Given the description of an element on the screen output the (x, y) to click on. 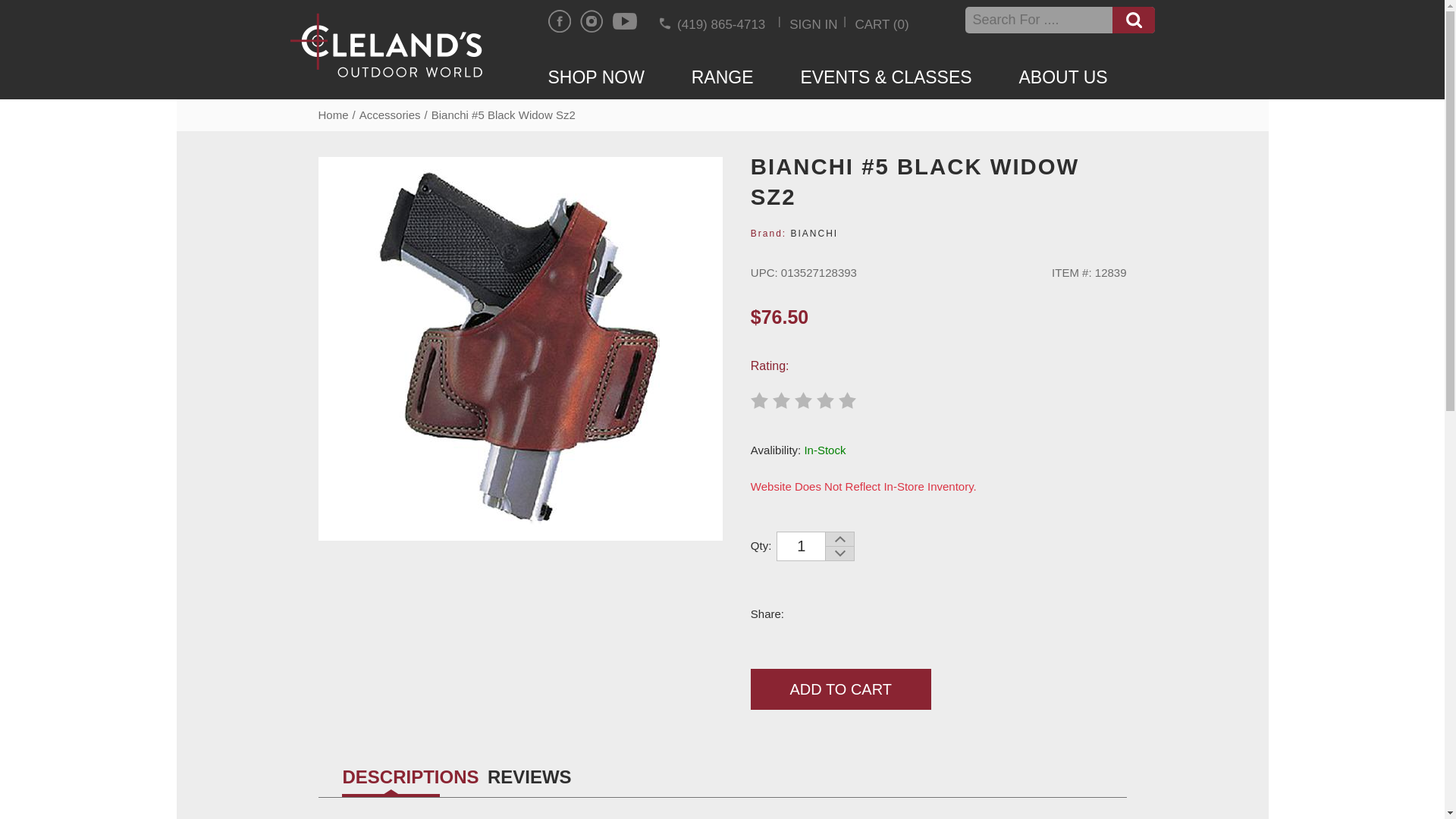
ADD TO CART (841, 689)
Shop Accessories products (389, 114)
REVIEWS (529, 779)
DESCRIPTIONS (390, 779)
Home (333, 114)
Accessories (389, 114)
1 (800, 546)
SHOP NOW (618, 75)
SIGN IN (813, 24)
